Given the description of an element on the screen output the (x, y) to click on. 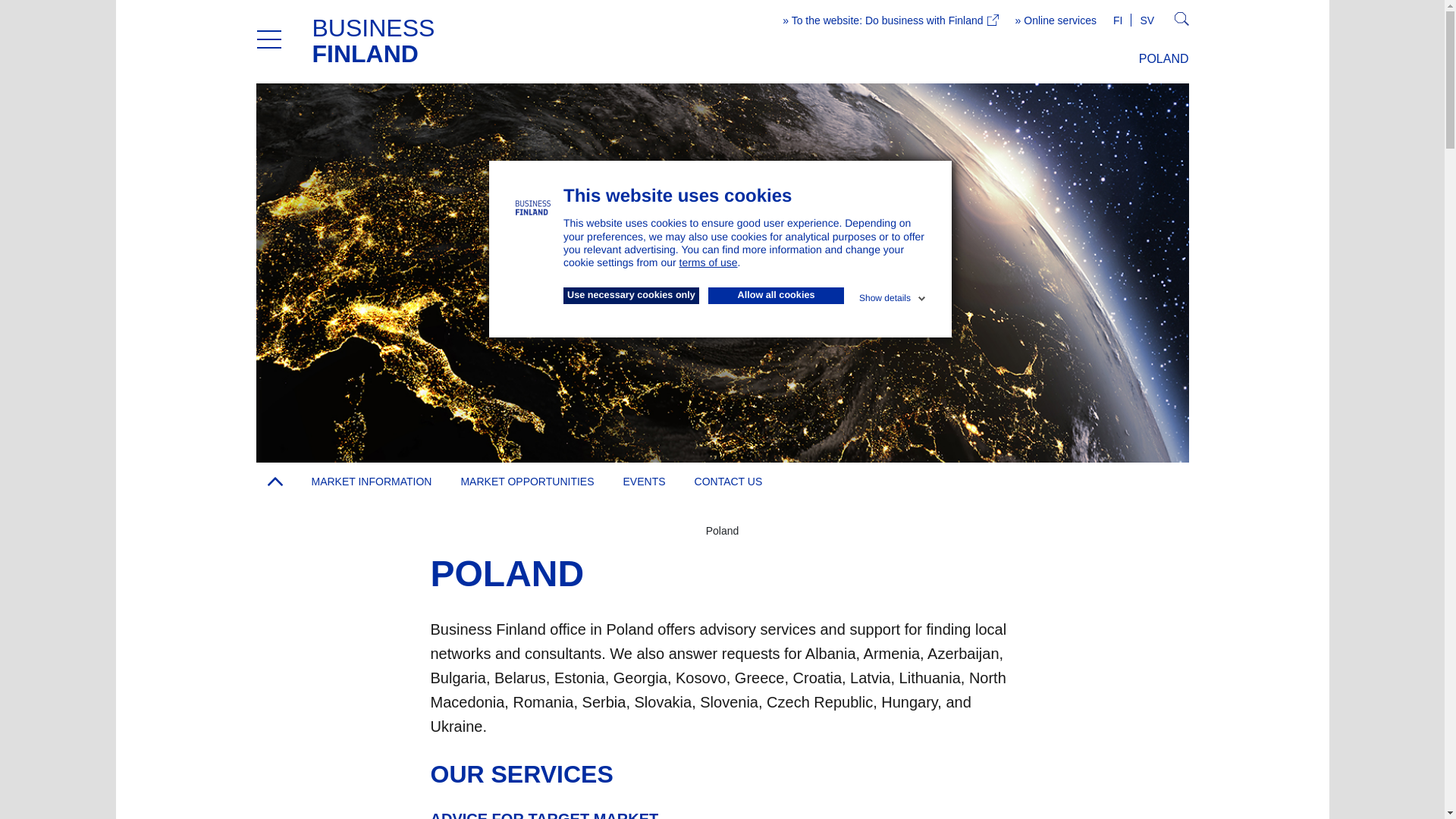
terms of use (708, 262)
Allow all cookies (775, 295)
Business Finland - Terms of Use (708, 262)
Show details (893, 295)
Use necessary cookies only (630, 295)
